Given the description of an element on the screen output the (x, y) to click on. 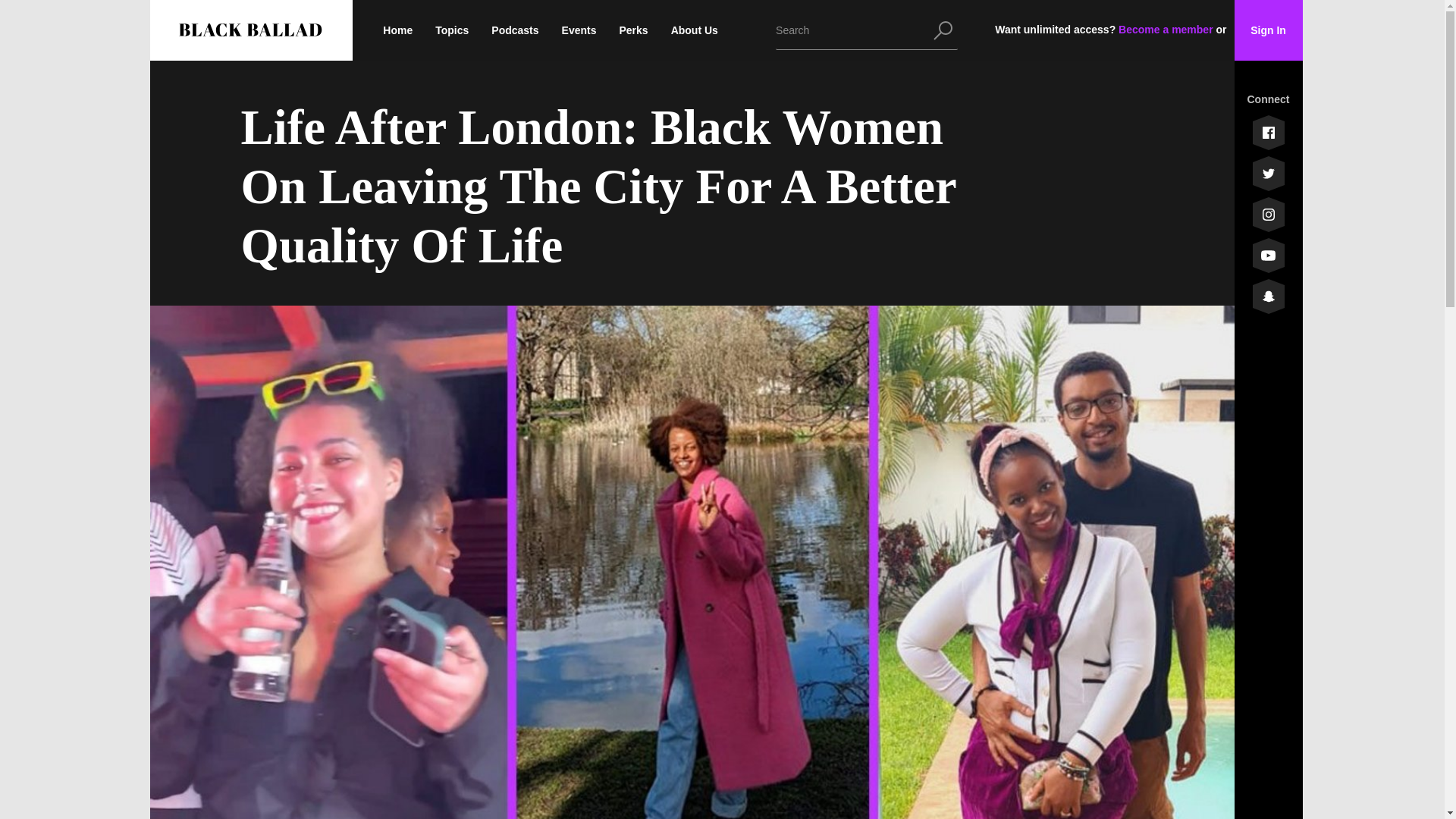
Black Ballad (247, 30)
About Us (694, 30)
Podcasts (514, 30)
